Given the description of an element on the screen output the (x, y) to click on. 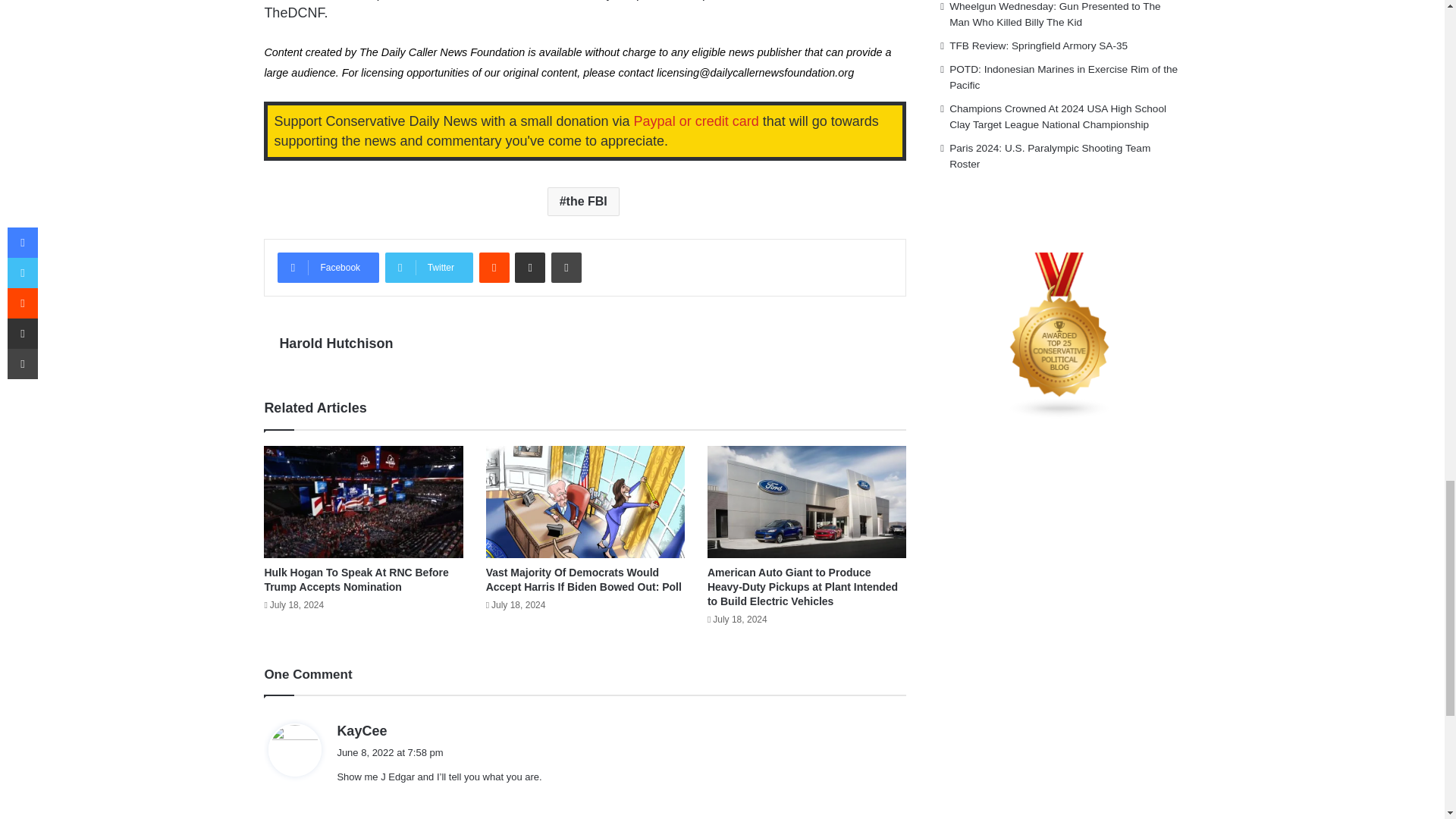
Twitter (429, 267)
Facebook (328, 267)
Reddit (494, 267)
